Given the description of an element on the screen output the (x, y) to click on. 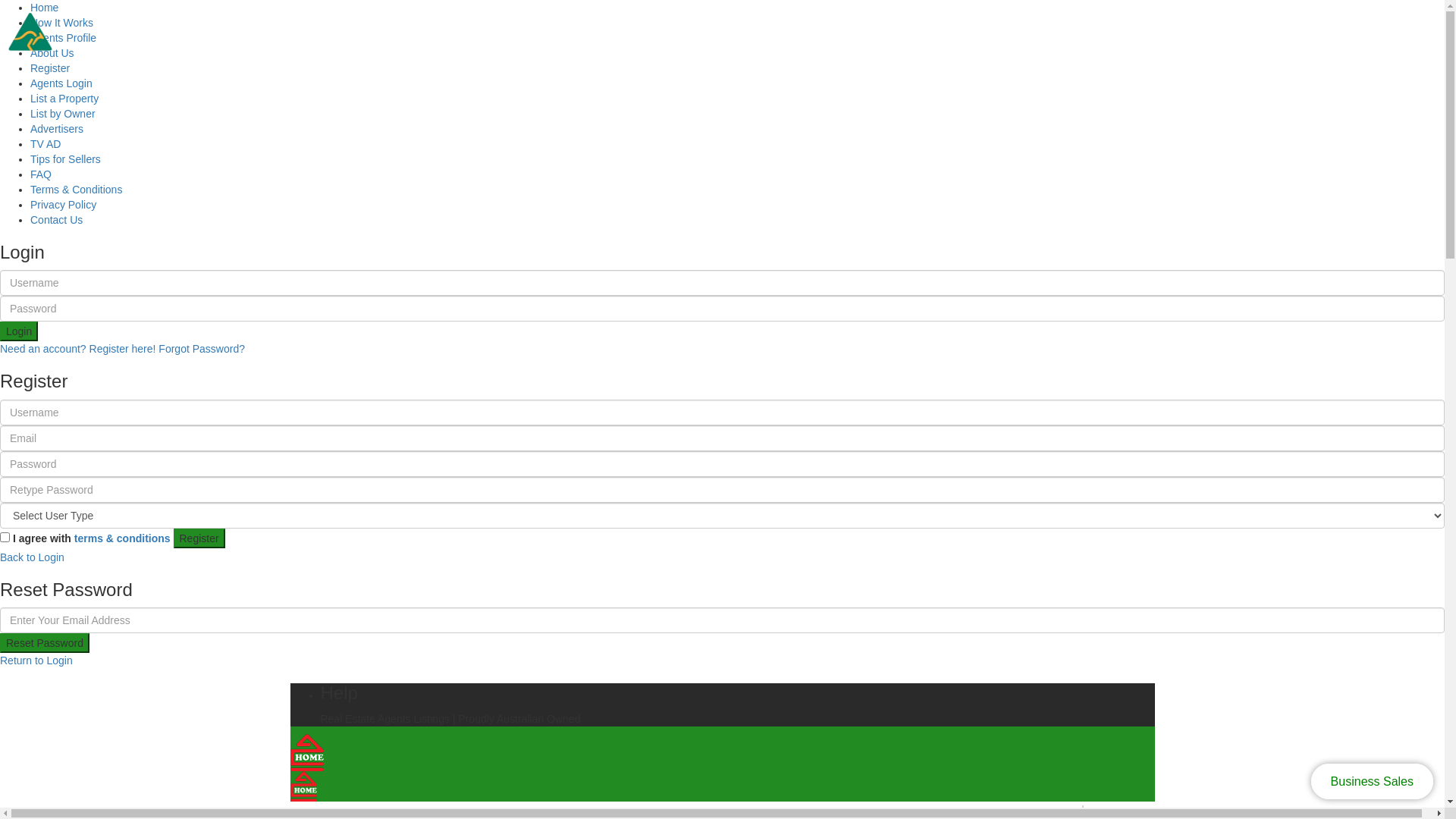
TV AD Element type: text (45, 144)
List by Owner Element type: text (62, 113)
Home Element type: text (44, 7)
About Us Element type: text (52, 53)
Agents Profile Element type: text (63, 37)
Privacy Policy Element type: text (63, 204)
Return to Login Element type: text (36, 660)
Back to Login Element type: text (32, 557)
Tips for Sellers Element type: text (65, 159)
Business Sales Element type: text (1372, 781)
Advertisers Element type: text (56, 128)
List a Property Element type: text (64, 98)
Contact Us Element type: text (56, 219)
Terms & Conditions Element type: text (76, 189)
Login Element type: text (18, 331)
Agents Login Element type: text (61, 83)
FAQ Element type: text (40, 174)
terms & conditions Element type: text (122, 538)
Reset Password Element type: text (44, 642)
Need an account? Register here! Element type: text (77, 348)
Home Element type: text (1067, 809)
Register Element type: text (198, 538)
Forgot Password? Element type: text (201, 348)
Register Element type: text (49, 68)
How It Works Element type: text (61, 22)
